Given the description of an element on the screen output the (x, y) to click on. 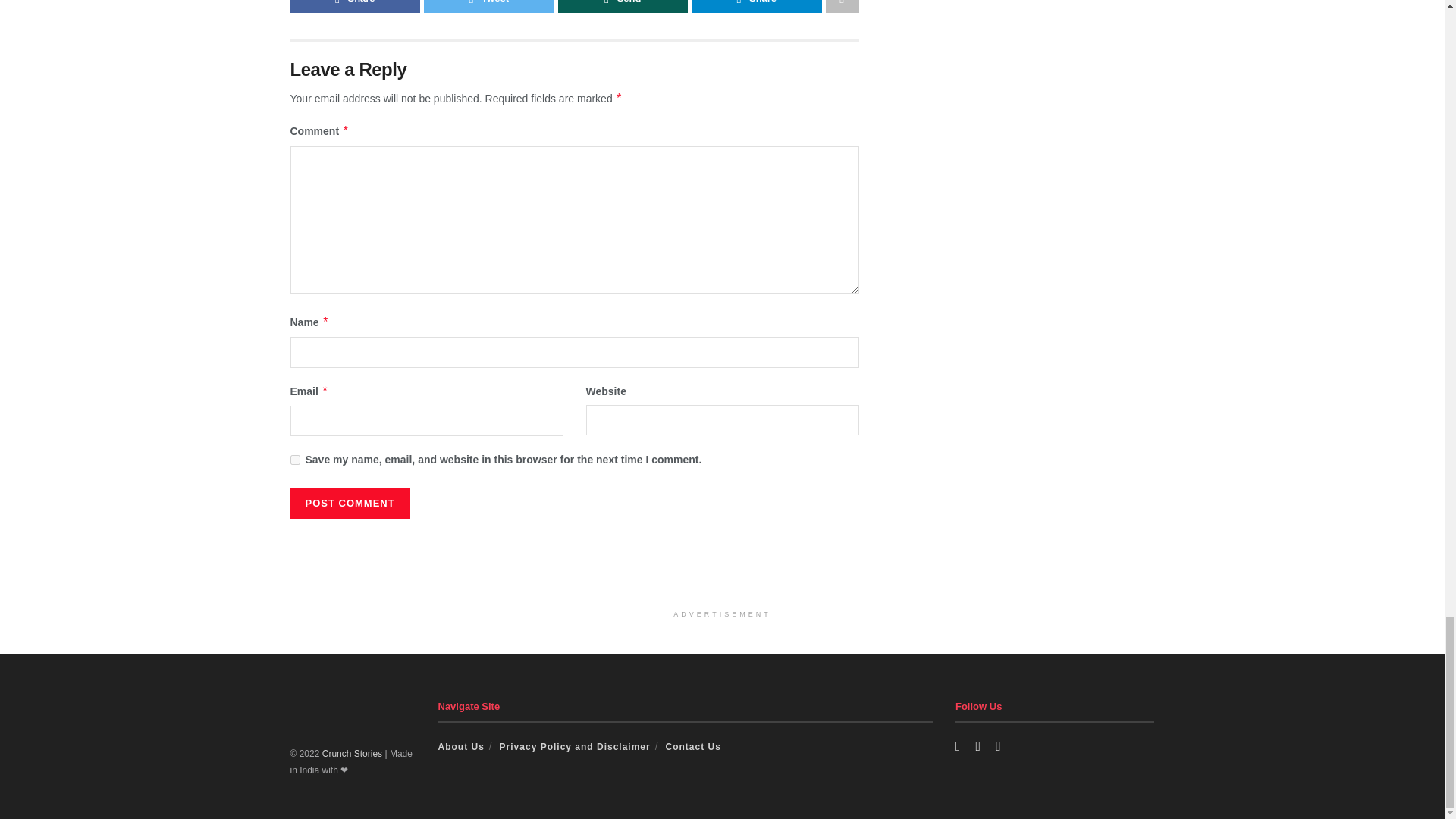
Post Comment (349, 503)
Crunch Stories (351, 753)
yes (294, 460)
